Given the description of an element on the screen output the (x, y) to click on. 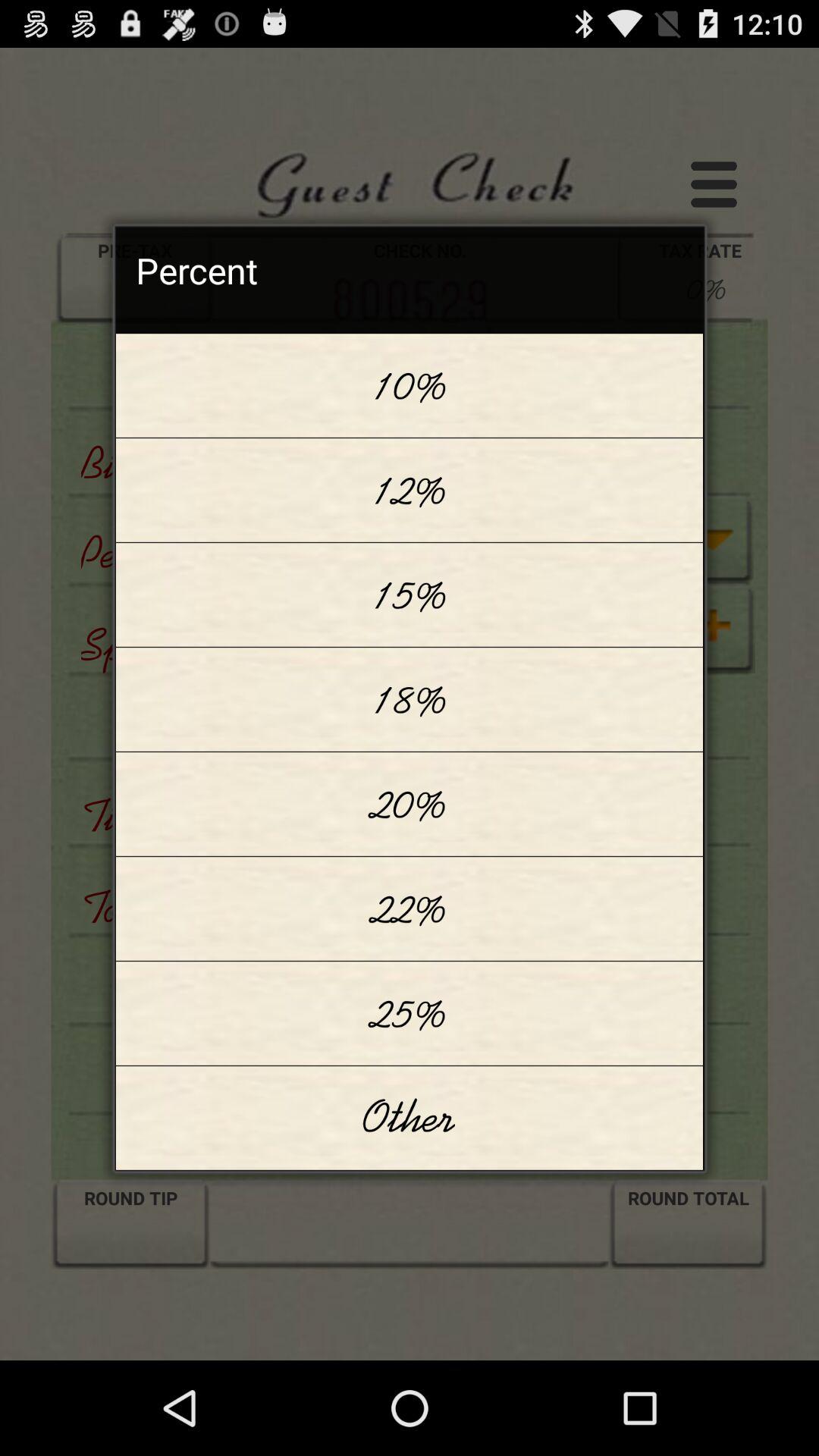
turn off app above 25% (409, 908)
